Given the description of an element on the screen output the (x, y) to click on. 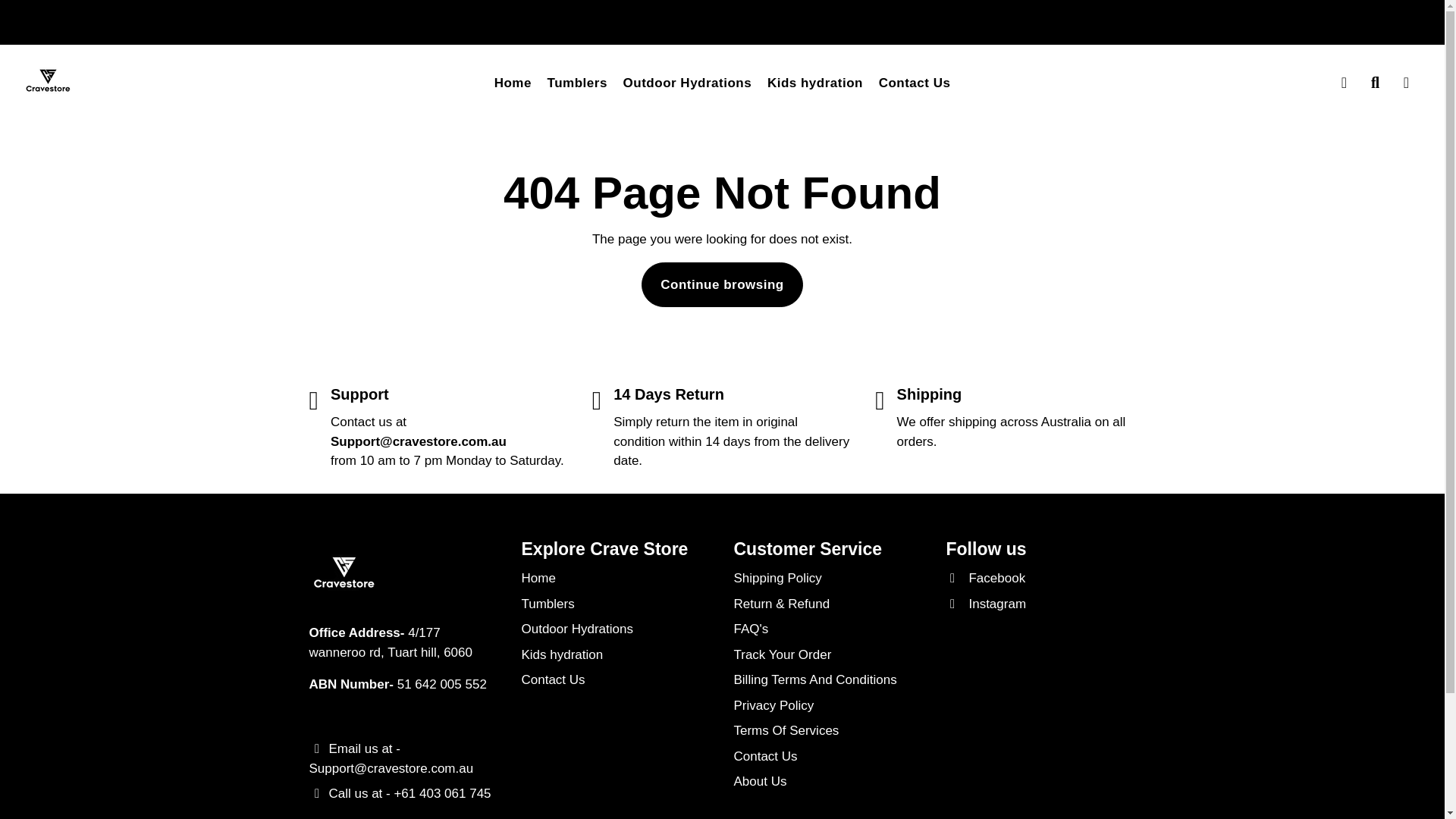
Home (512, 82)
Contact Us (914, 82)
Tumblers (576, 82)
Outdoor Hydrations (687, 82)
Continue browsing (722, 284)
CraveStore on Instagram (986, 604)
Kids hydration (815, 82)
CraveStore (49, 82)
Log In (1343, 82)
Search (1374, 82)
Cart (1406, 82)
Home (538, 578)
CraveStore on Facebook (986, 578)
